Given the description of an element on the screen output the (x, y) to click on. 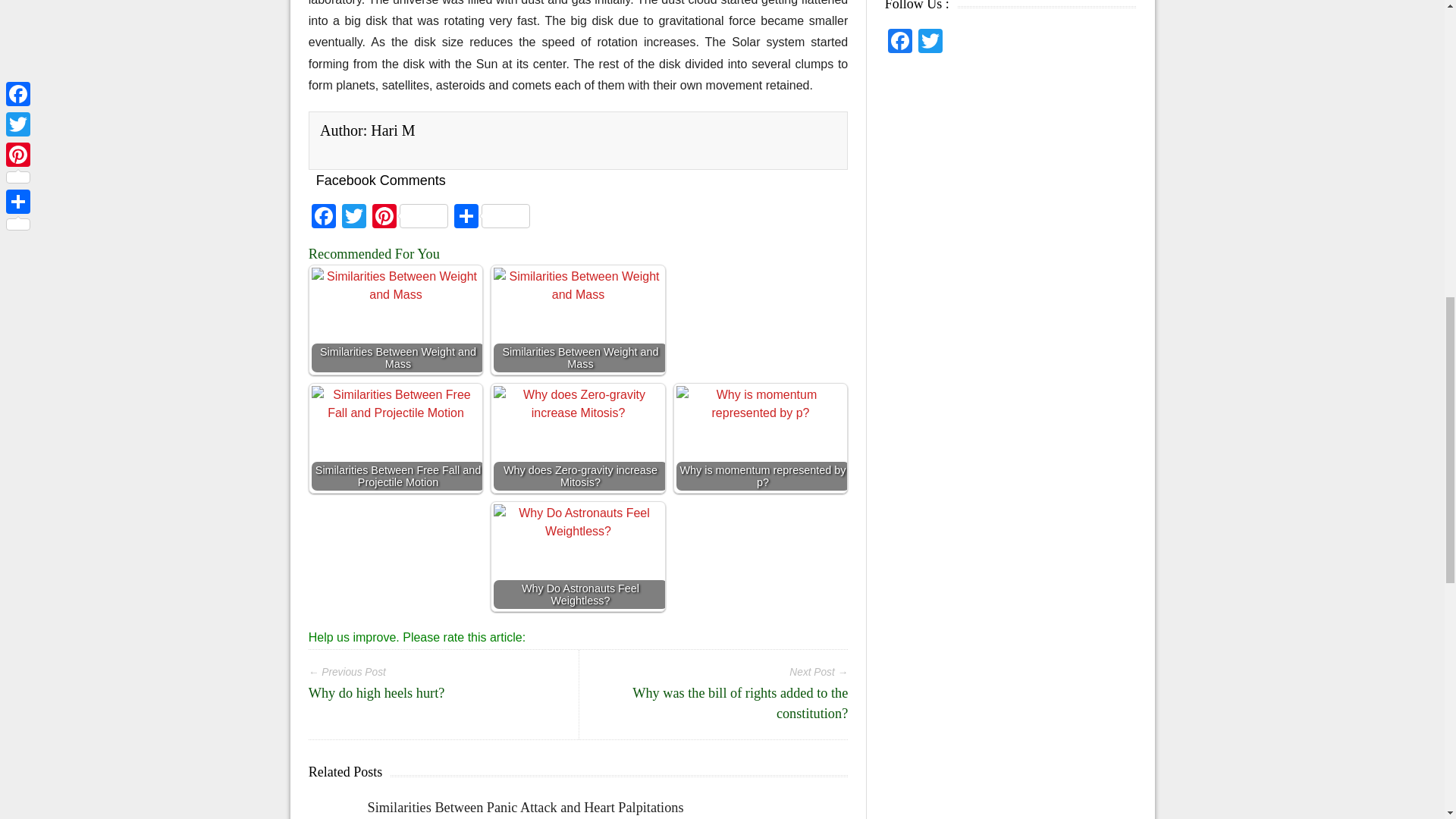
Similarities Between Panic Attack and Heart Palpitations (526, 807)
Similarities Between Weight and Mass (395, 319)
Similarities Between Free Fall and Projectile Motion (395, 438)
Facebook (323, 217)
Why is momentum represented by p? (760, 438)
Similarities Between Weight and Mass (577, 331)
Share (491, 217)
Why is momentum represented by p? (761, 437)
Why does Zero-gravity increase Mitosis? (577, 448)
Why Do Astronauts Feel Weightless? (577, 567)
